Given the description of an element on the screen output the (x, y) to click on. 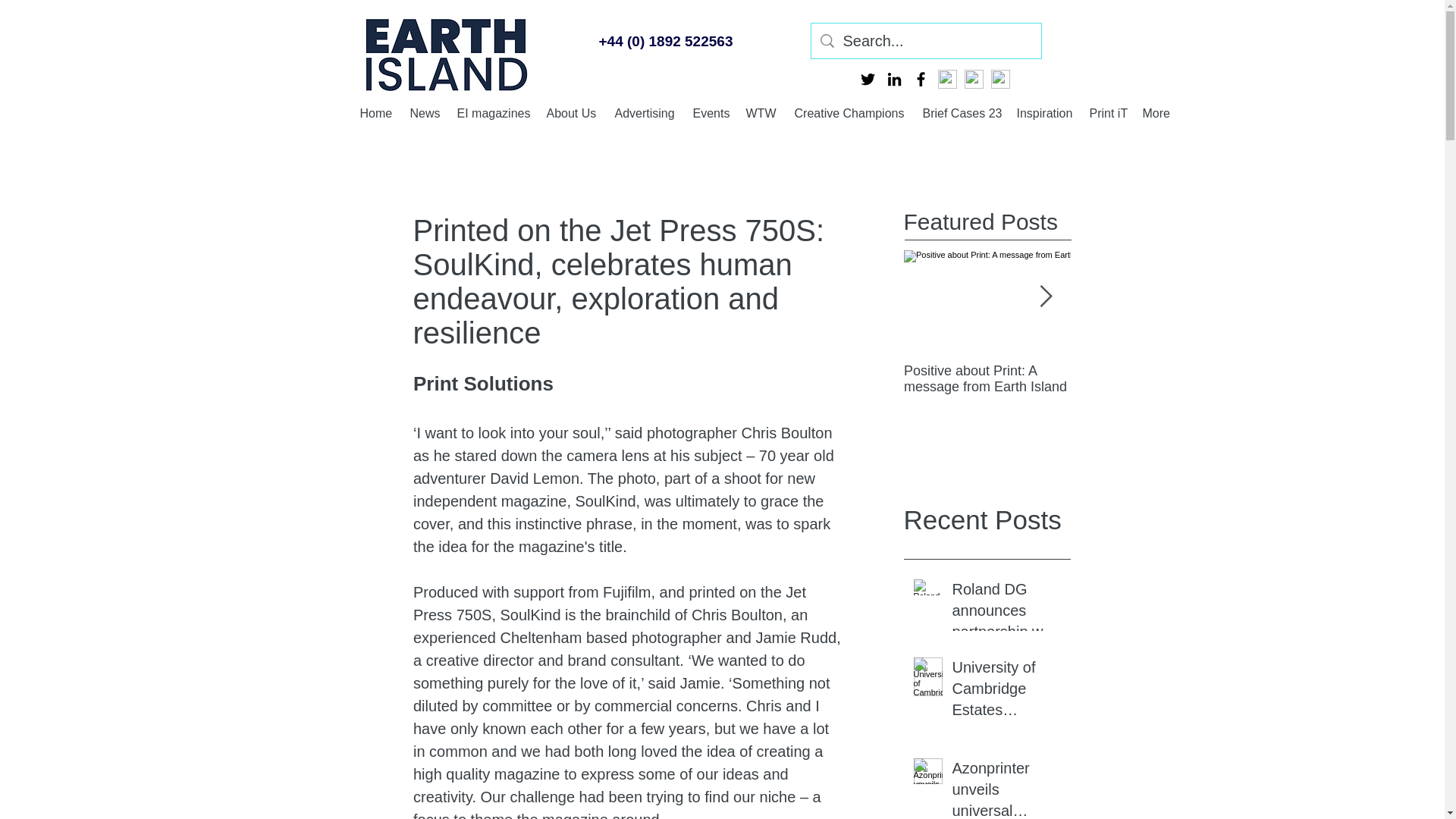
Inspiration (1045, 112)
News (424, 112)
Positive about Print: A message from Earth Island (987, 377)
Positive about Print: A message from Earth Island (1153, 377)
Creative Champions (851, 112)
WTW (762, 112)
Brief Cases 23 (961, 112)
About Us (572, 112)
Advertising (645, 112)
Print iT (1107, 112)
EI magazines (493, 112)
Events (711, 112)
Home (376, 112)
